Given the description of an element on the screen output the (x, y) to click on. 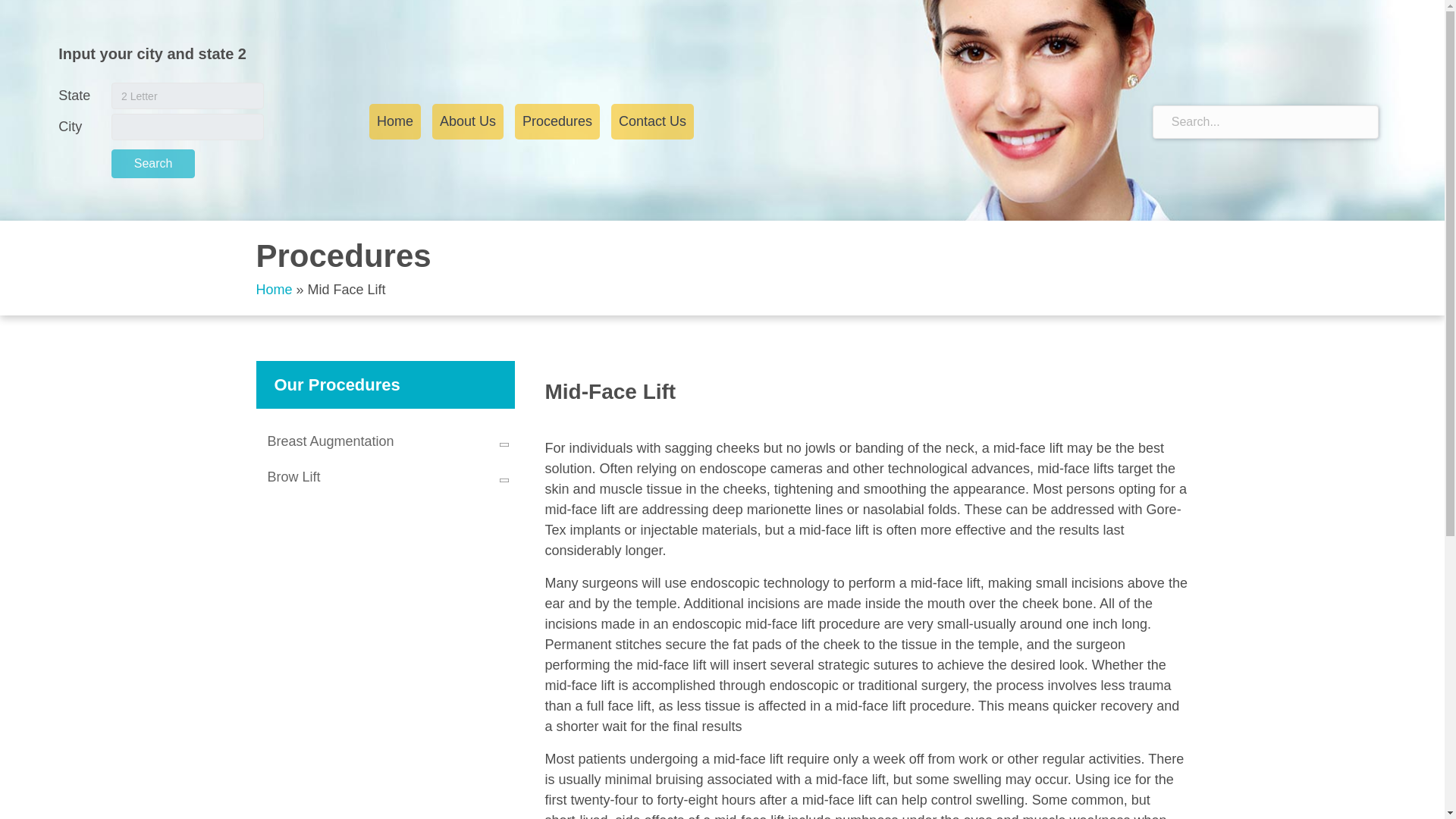
Contact Us (652, 121)
Search (153, 163)
About Us (467, 121)
Home (274, 290)
Breast Augmentation (385, 441)
Procedures (557, 121)
Home (394, 121)
